Given the description of an element on the screen output the (x, y) to click on. 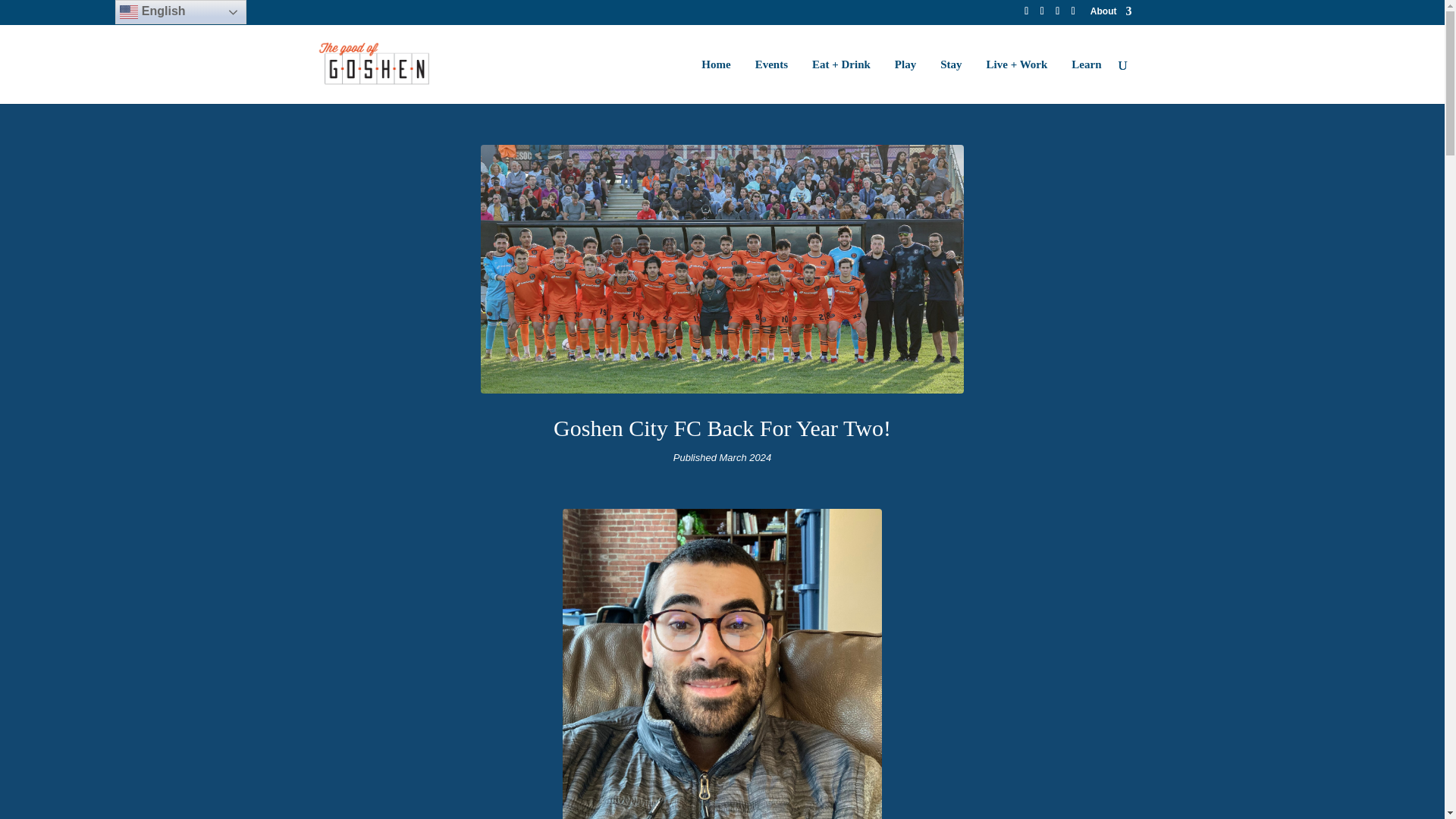
d2de7525-78eb-4762-b1cf-00321a96d390 (722, 663)
Events (771, 81)
Goshen City Football Club (721, 389)
Learn (1085, 81)
Home (715, 81)
Play (905, 81)
About (1111, 14)
Team Picture (721, 268)
Stay (950, 81)
